Given the description of an element on the screen output the (x, y) to click on. 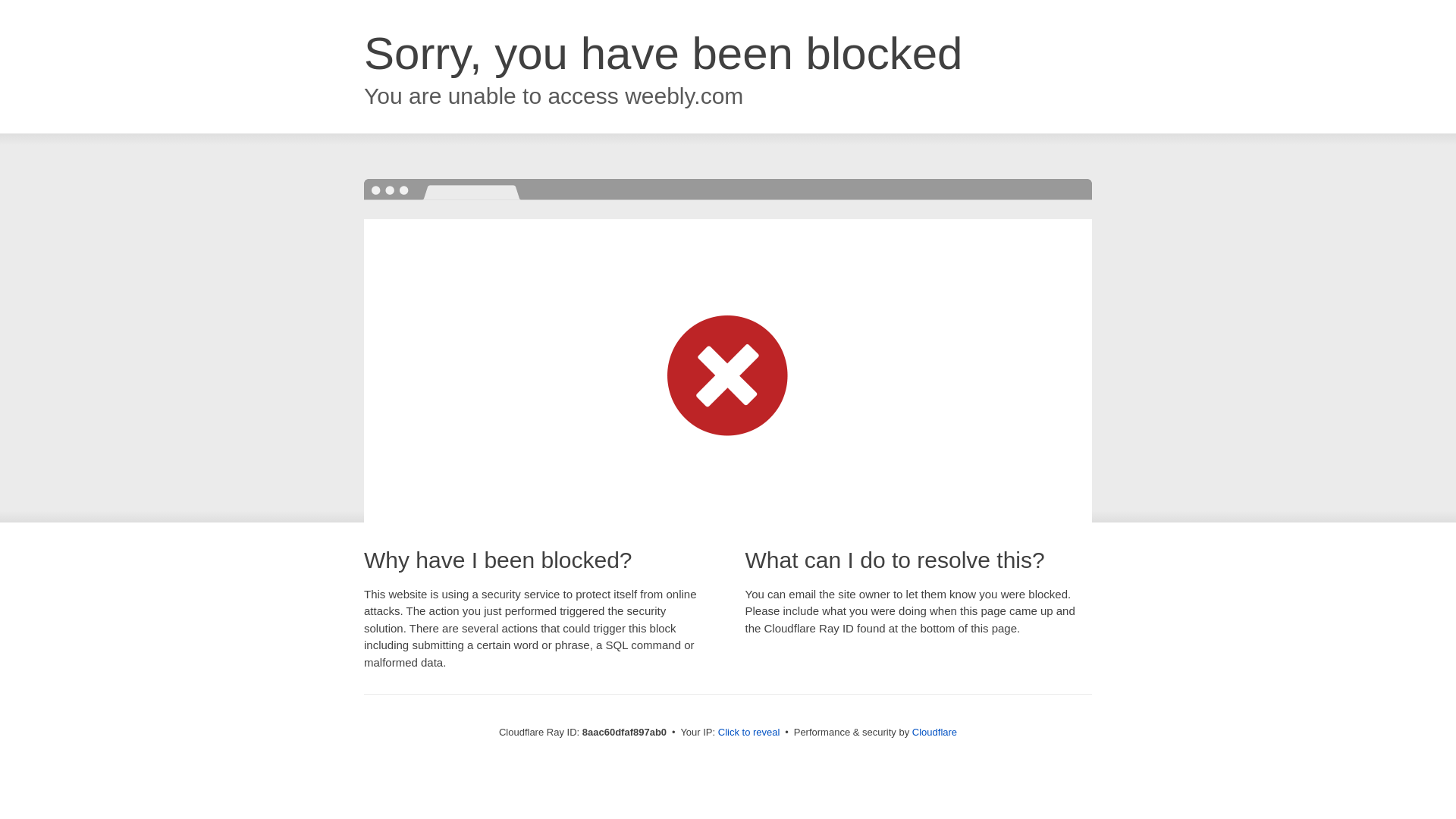
Cloudflare (934, 731)
Click to reveal (748, 732)
